Given the description of an element on the screen output the (x, y) to click on. 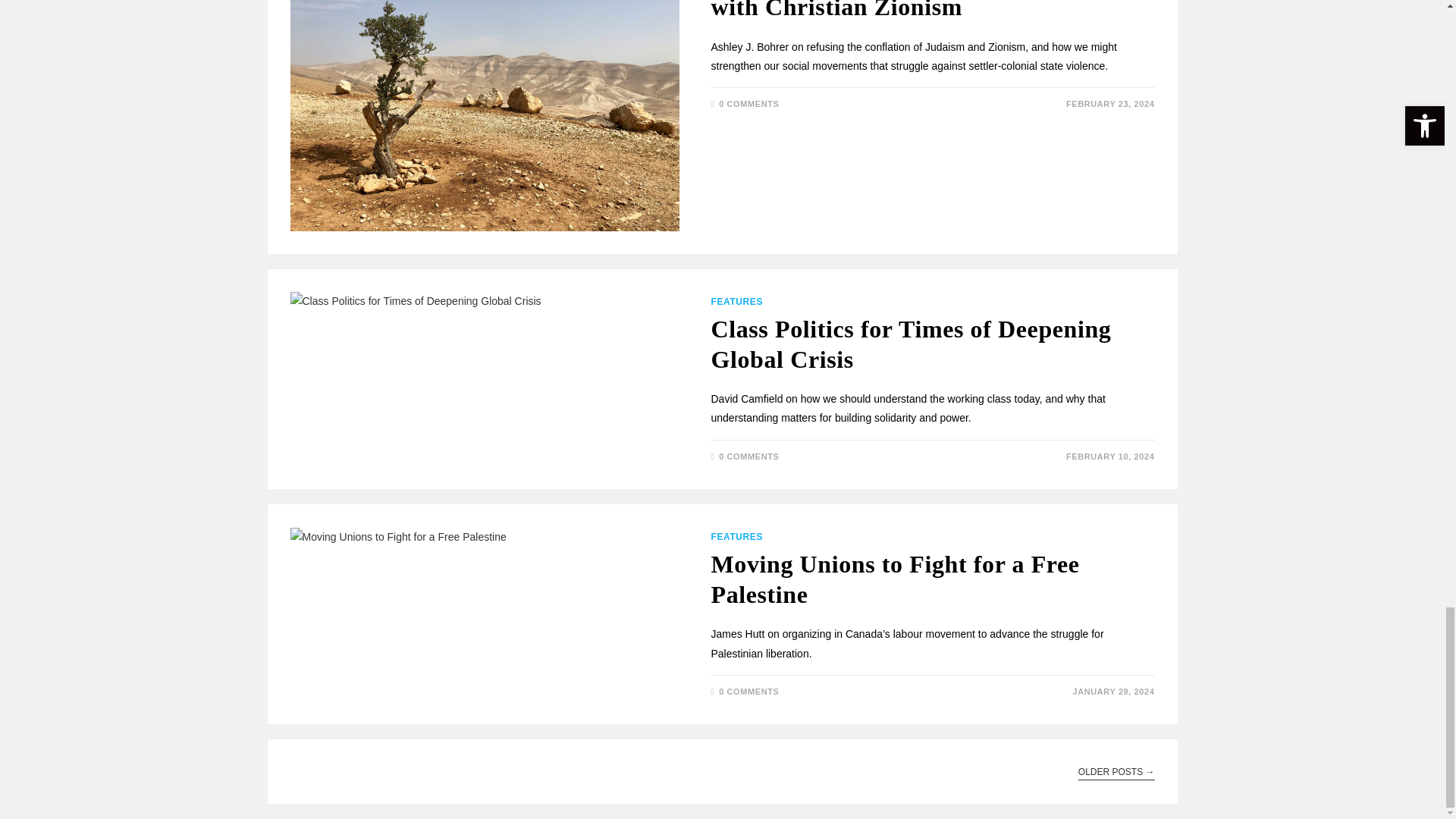
Moving Unions to Fight for a Free Palestine (895, 579)
To Oppose Zionism, We Have to Deal with Christian Zionism (912, 10)
Class Politics for Times of Deepening Global Crisis (911, 344)
